Given the description of an element on the screen output the (x, y) to click on. 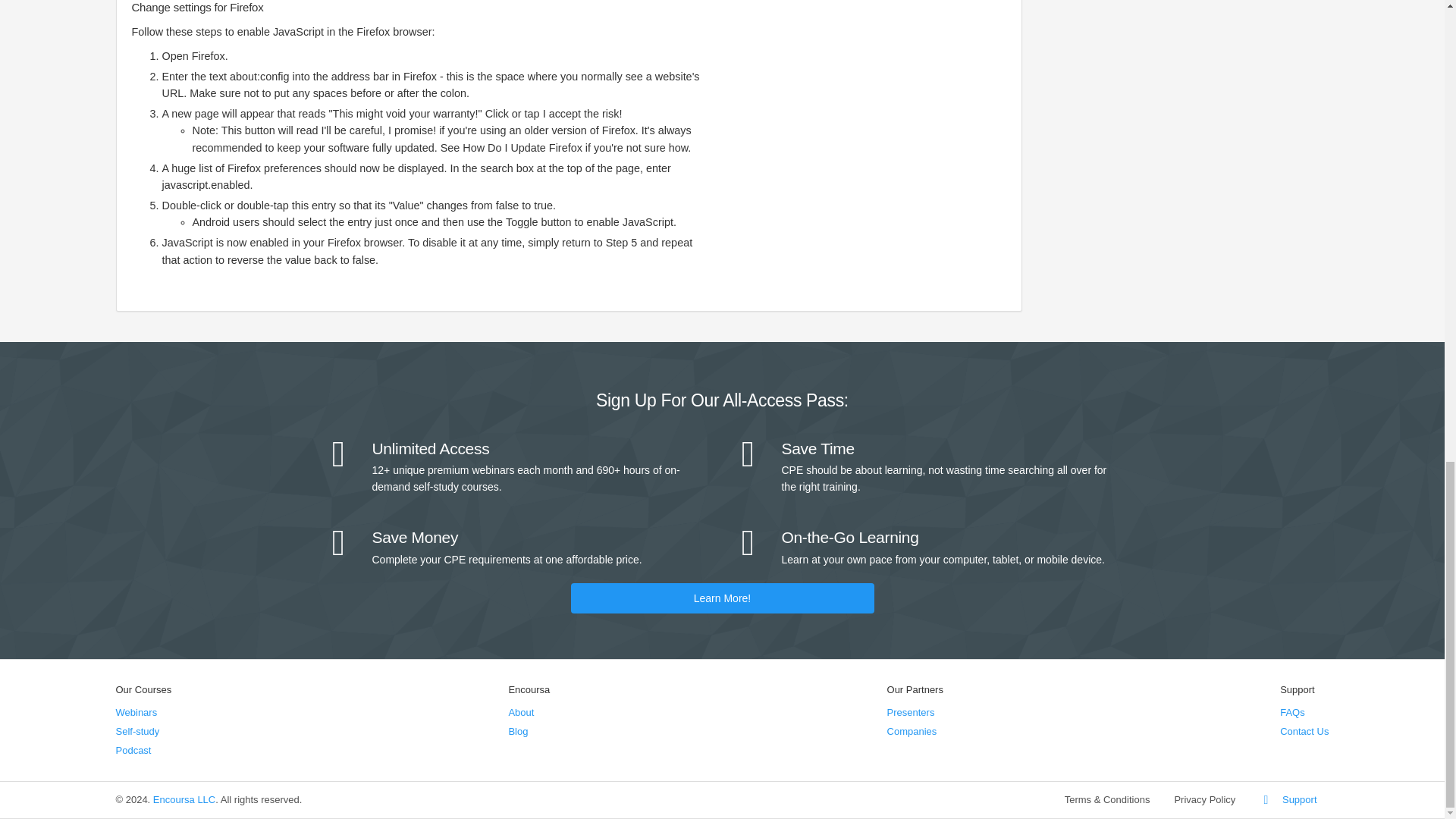
Webinars (136, 712)
Support (1287, 800)
Blog (517, 731)
About (521, 712)
Contact Us (1303, 731)
Companies (911, 731)
Encoursa LLC (183, 799)
Learn More! (721, 598)
Self-study (136, 731)
Privacy Policy (1204, 800)
